Given the description of an element on the screen output the (x, y) to click on. 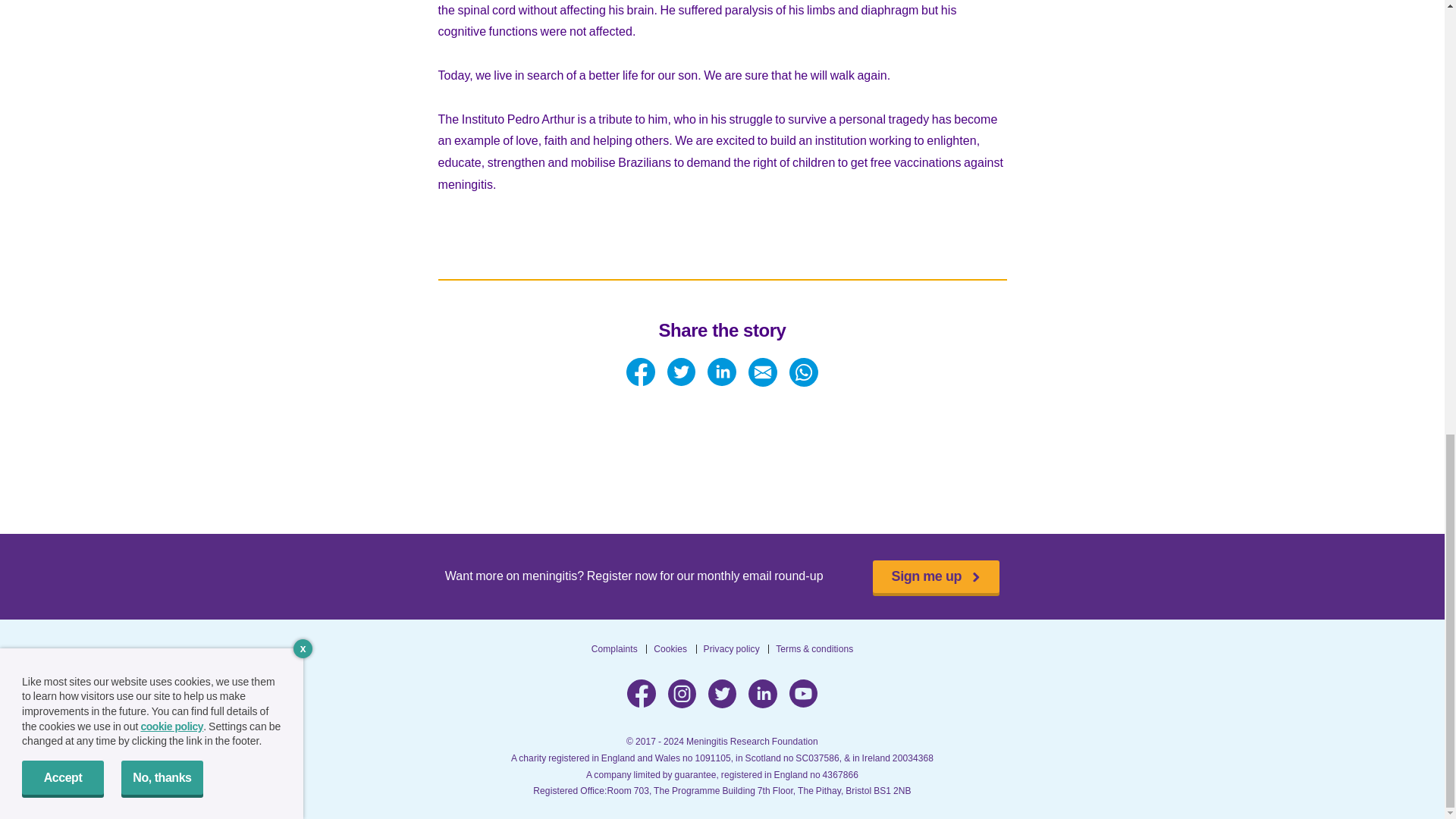
Cookies (670, 648)
Privacy policy (731, 648)
Complaints (614, 648)
